Given the description of an element on the screen output the (x, y) to click on. 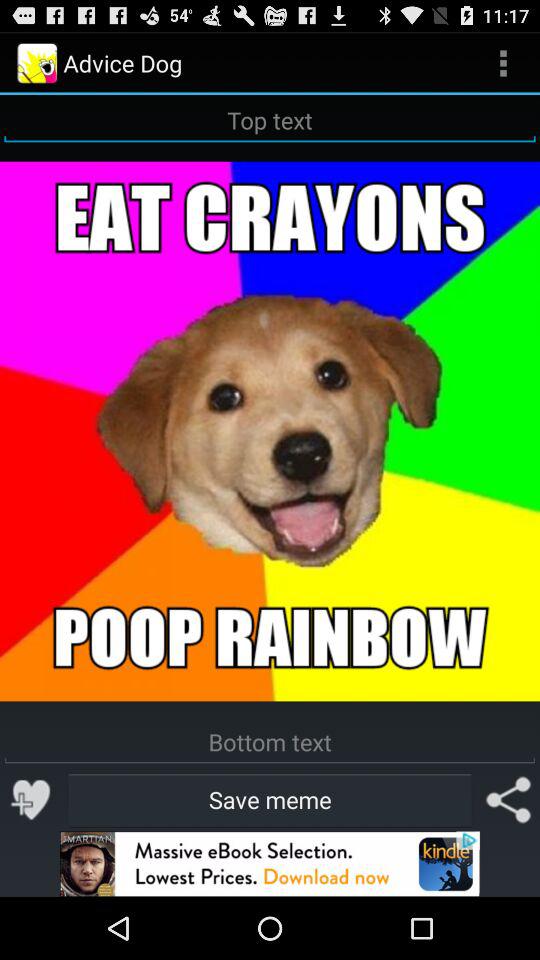
i think its fun (31, 799)
